Given the description of an element on the screen output the (x, y) to click on. 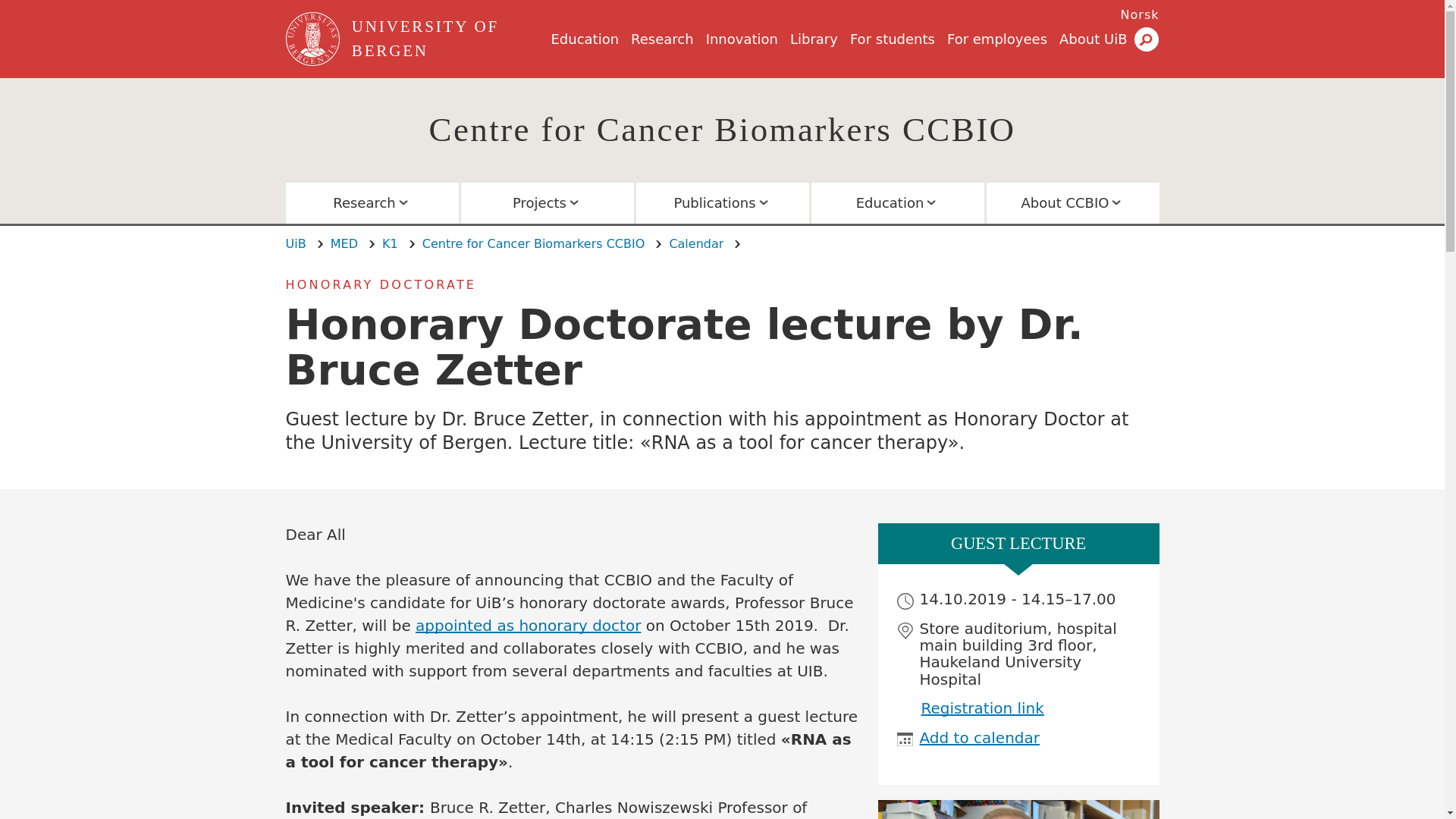
For employees (996, 38)
Home (448, 39)
Centre for Cancer Biomarkers CCBIO (722, 129)
About UiB (1092, 38)
Innovation (741, 38)
Research (662, 38)
UNIVERSITY OF BERGEN (448, 39)
Norsk (1139, 14)
Library (814, 38)
For students (892, 38)
Home (313, 39)
Education (584, 38)
